Given the description of an element on the screen output the (x, y) to click on. 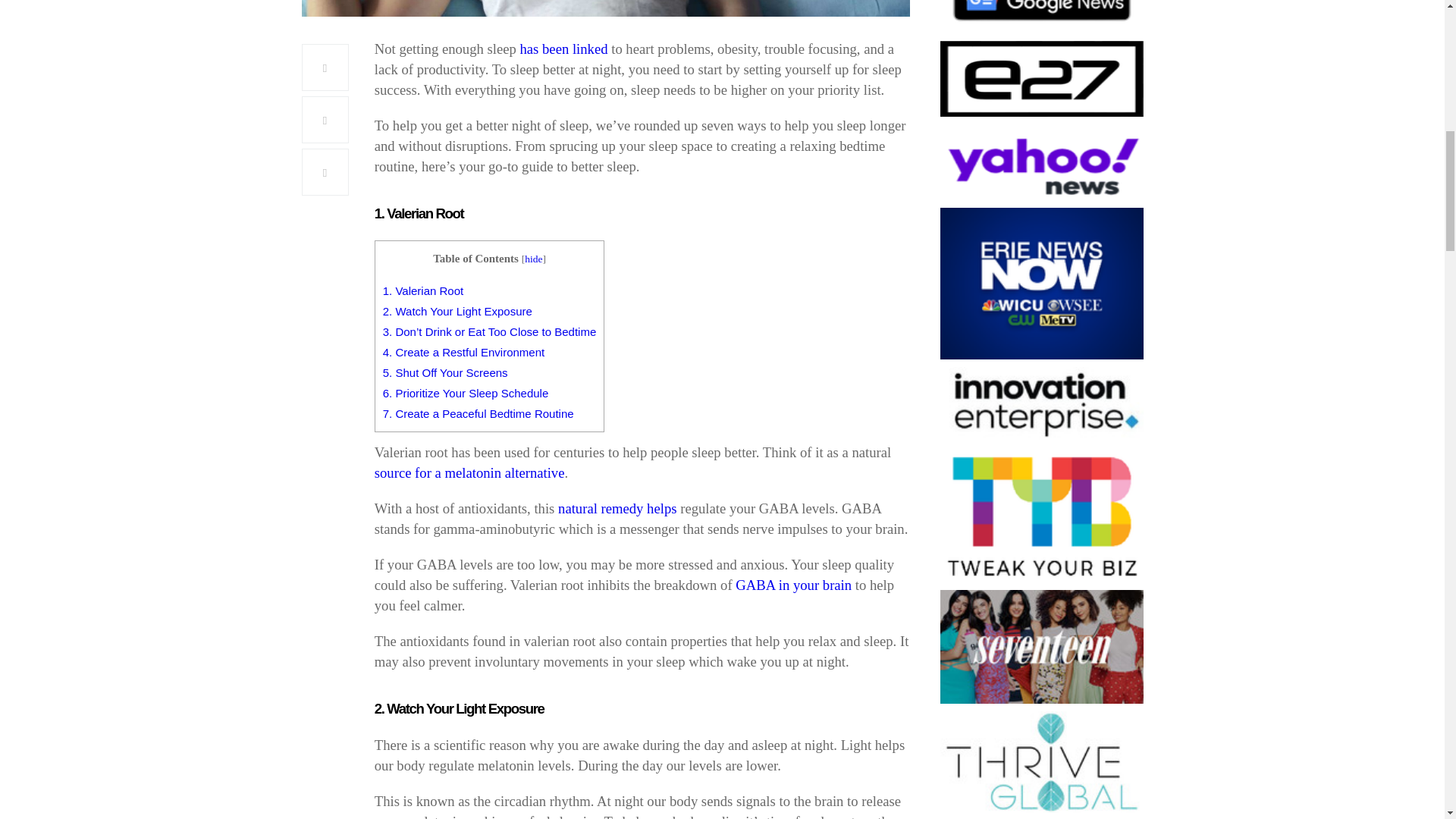
Share on Facebook (325, 67)
Share on Twitter (325, 119)
Share on Pinterest (325, 171)
